Given the description of an element on the screen output the (x, y) to click on. 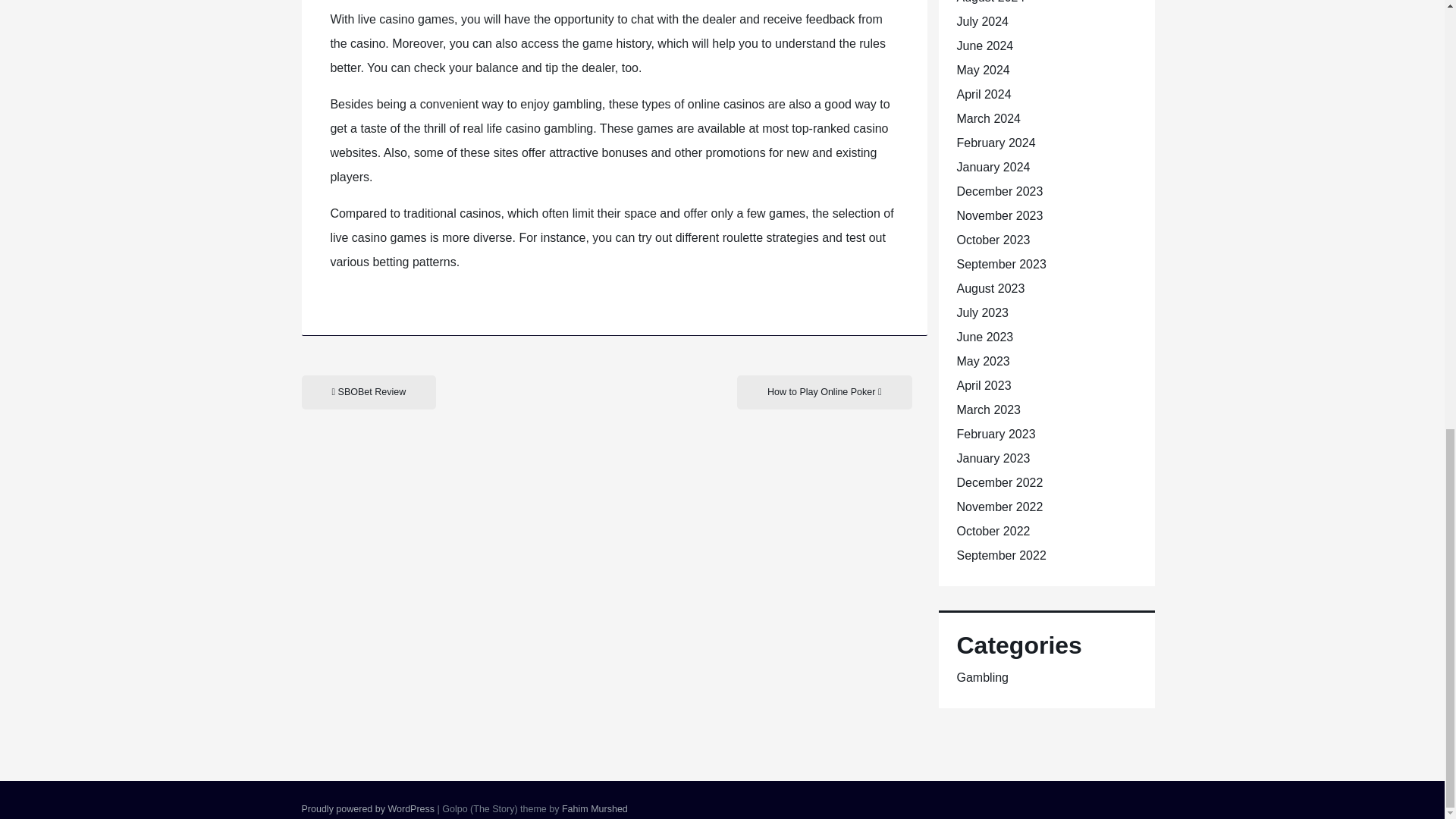
May 2024 (983, 69)
October 2023 (993, 239)
September 2023 (1001, 264)
January 2024 (993, 166)
How to Play Online Poker (823, 392)
July 2023 (982, 312)
SBOBet Review (368, 392)
March 2024 (989, 118)
April 2024 (983, 93)
March 2023 (989, 409)
